Given the description of an element on the screen output the (x, y) to click on. 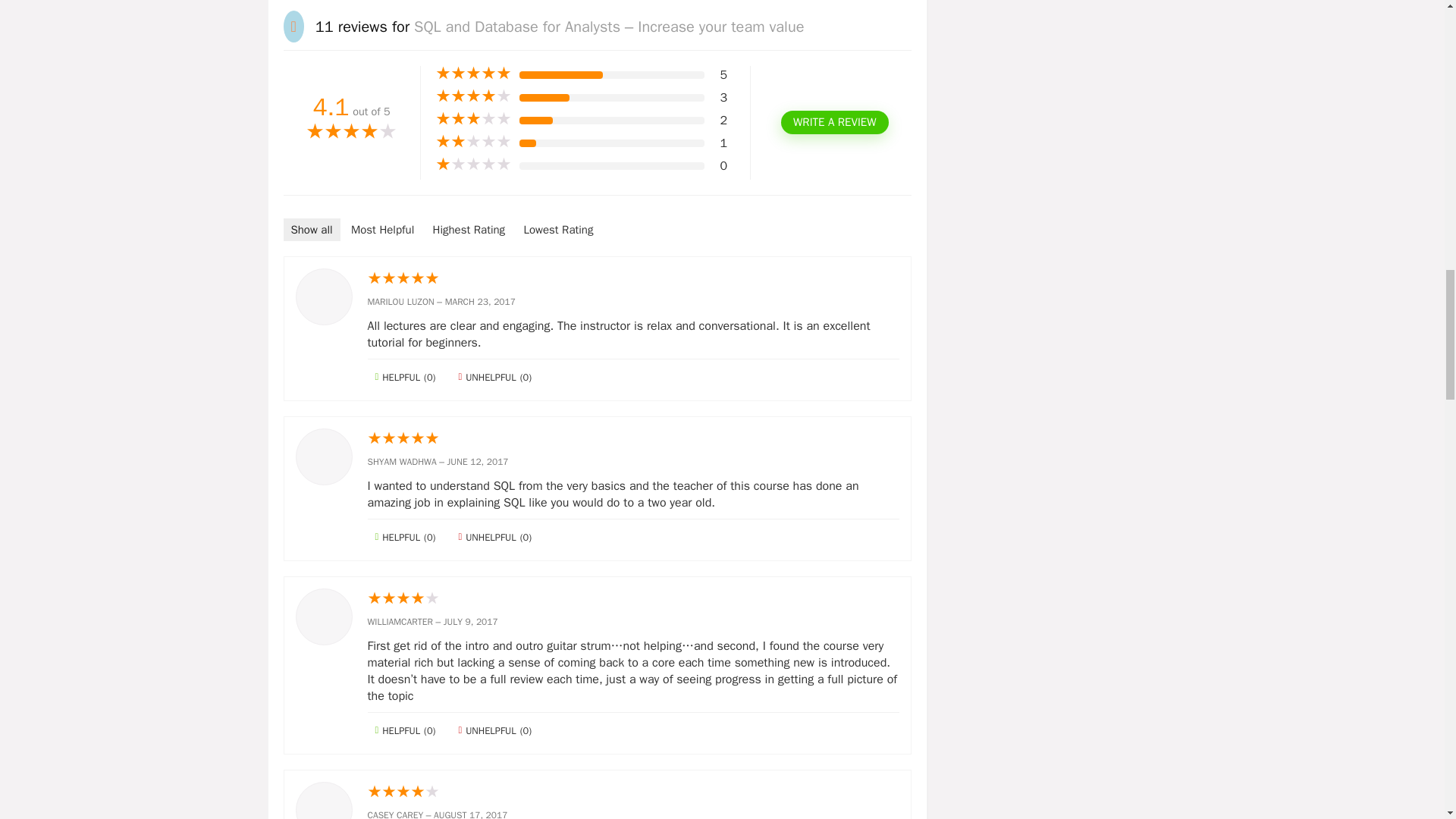
Rated 4 out of 5 (632, 792)
Rated 4 out of 5 (632, 598)
Rated 5 out of 5 (632, 278)
Rated 1 out of 5 (473, 164)
WRITE A REVIEW (834, 122)
Rated 2 out of 5 (473, 141)
Rated 3 out of 5 (473, 118)
Rated 5 out of 5 (473, 73)
Rated 5 out of 5 (632, 438)
Rated 4.1 out of 5 (351, 133)
